Given the description of an element on the screen output the (x, y) to click on. 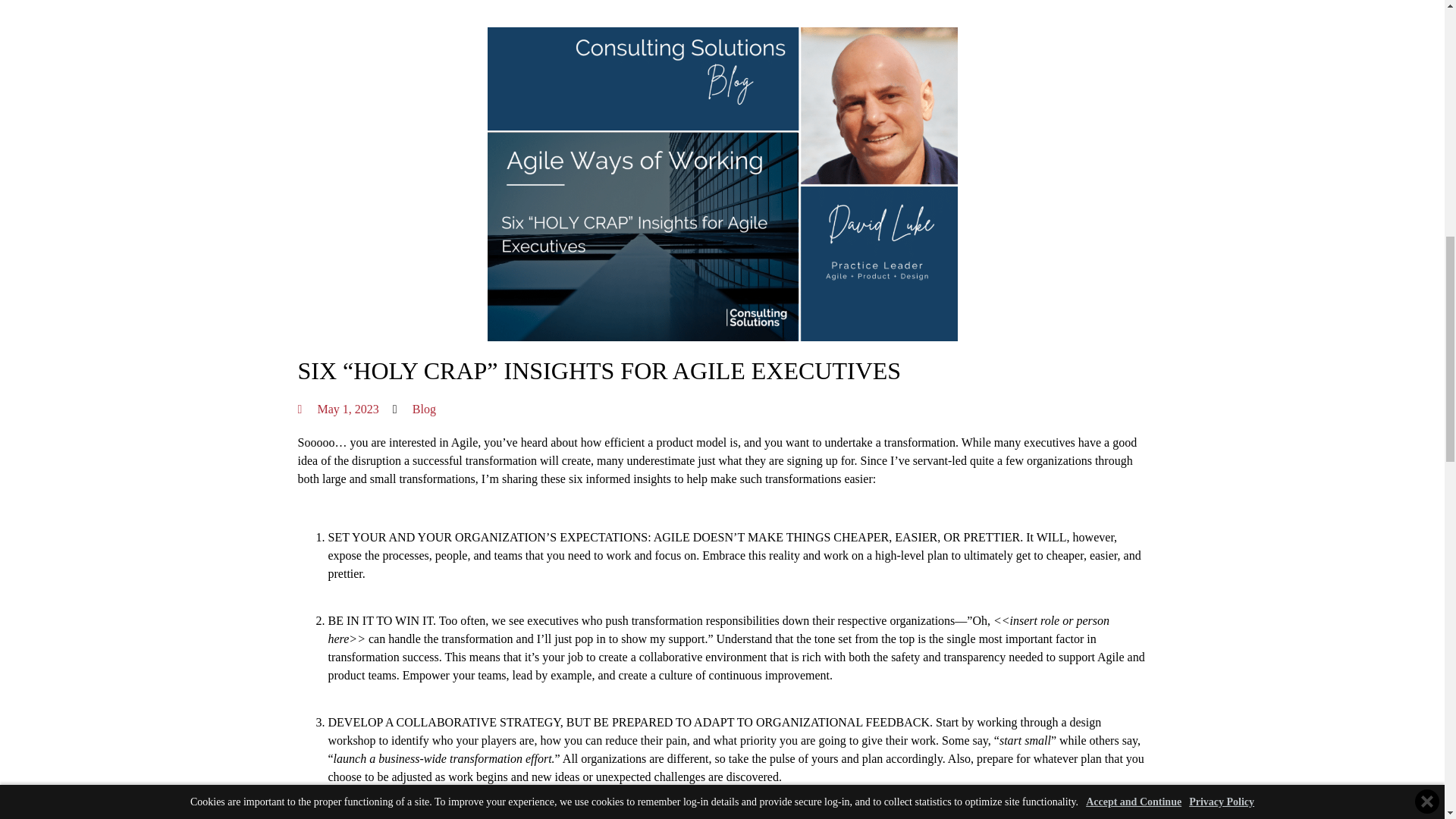
May 1, 2023 (337, 409)
